Given the description of an element on the screen output the (x, y) to click on. 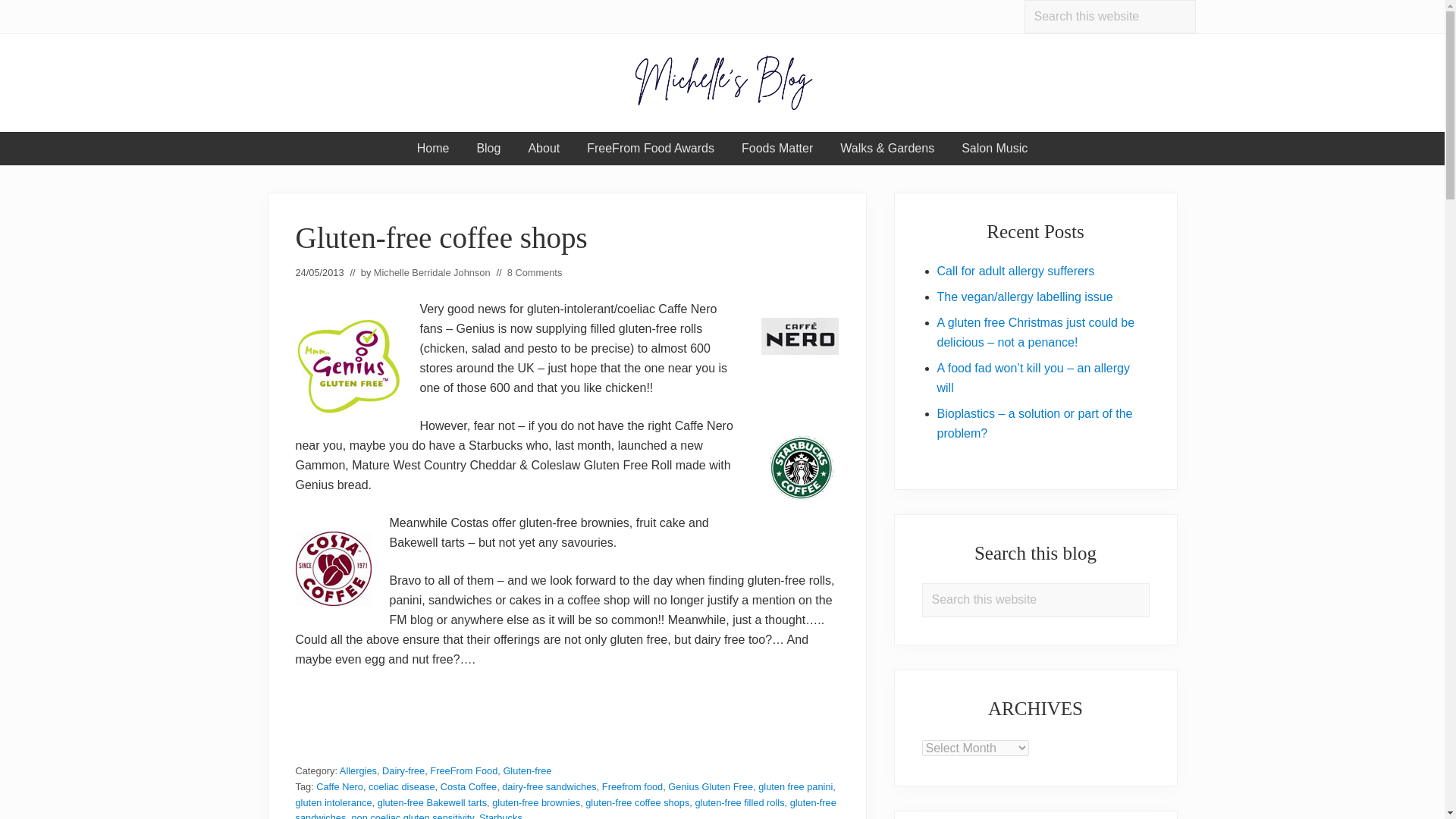
Dairy-free (403, 770)
Genius Gluten Free (710, 786)
8 Comments (534, 272)
FreeFrom Food Awards (650, 148)
gluten free panini (795, 786)
Michelle Berridale Johnson (432, 272)
Gluten-free (526, 770)
Caffe Nero (338, 786)
Freefrom food (632, 786)
